Given the description of an element on the screen output the (x, y) to click on. 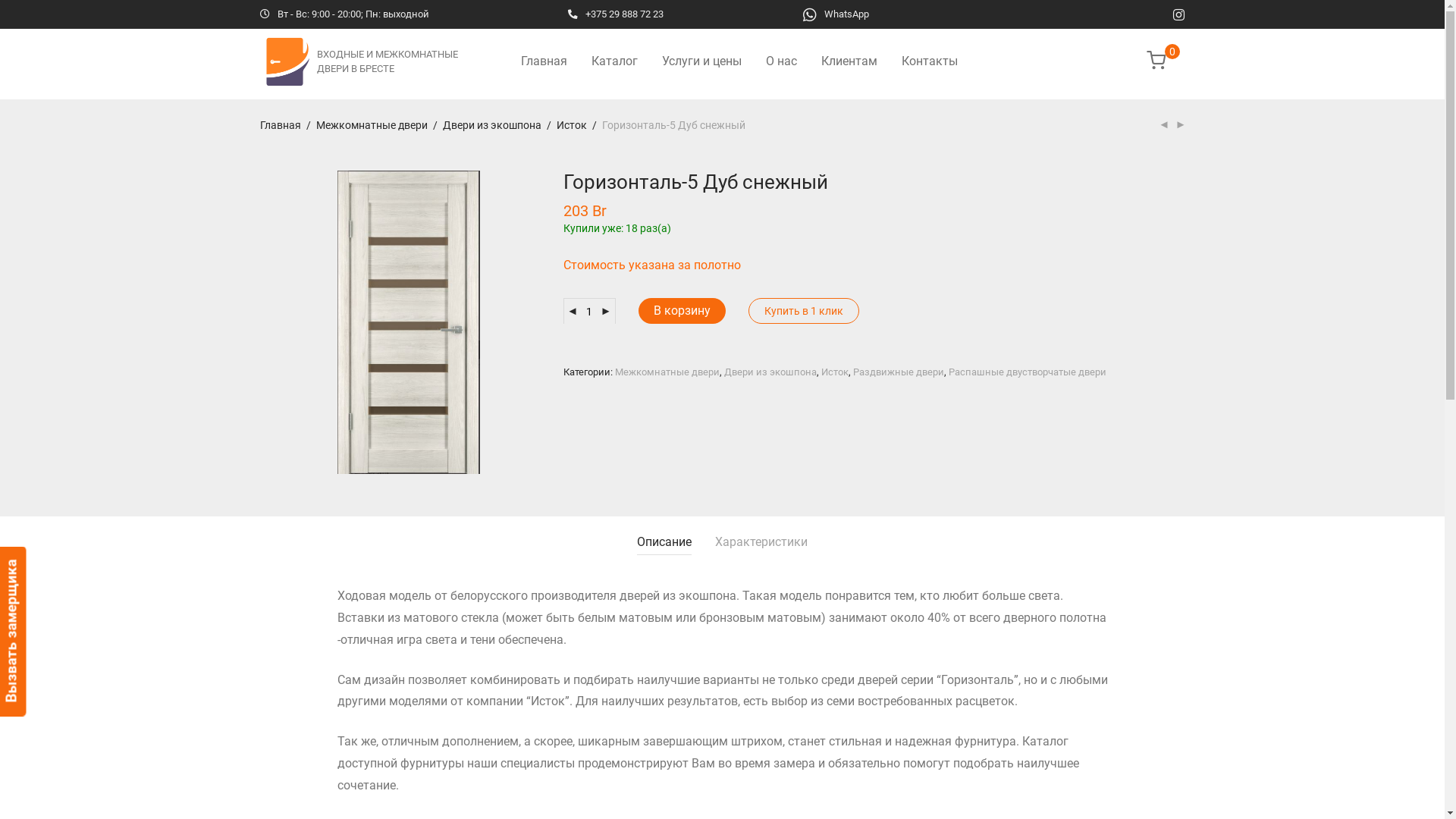
WhatsApp Element type: text (836, 13)
0 Element type: text (1165, 61)
Gorizontal_5_dub snezniy Element type: hover (407, 321)
Instagram Element type: hover (1178, 13)
+375 29 888 72 23 Element type: text (615, 13)
